Given the description of an element on the screen output the (x, y) to click on. 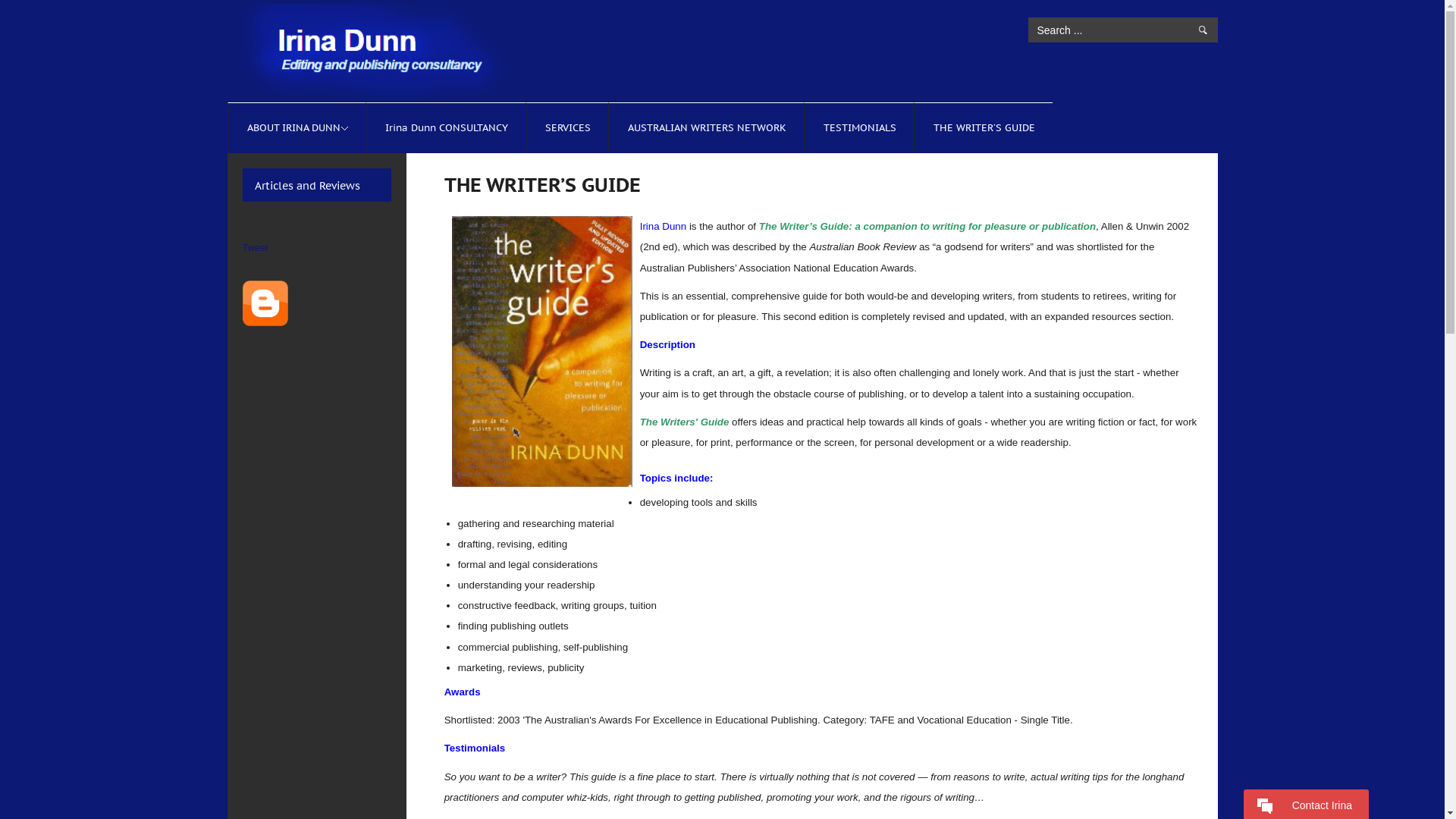
ABOUT IRINA DUNN Element type: text (297, 127)
AUSTRALIAN WRITERS NETWORK Element type: text (706, 127)
SERVICES Element type: text (566, 127)
SERVICES Element type: text (566, 127)
TESTIMONIALS Element type: text (859, 127)
AUSTRALIAN WRITERS NETWORK Element type: text (706, 127)
Irina Dunn CONSULTANCY Element type: text (446, 127)
TESTIMONIALS Element type: text (859, 127)
Tweet Element type: text (255, 247)
ABOUT IRINA DUNN Element type: text (293, 127)
Irina Dunn CONSULTANCY Element type: text (446, 127)
Articles and Reviews Element type: text (307, 185)
